Given the description of an element on the screen output the (x, y) to click on. 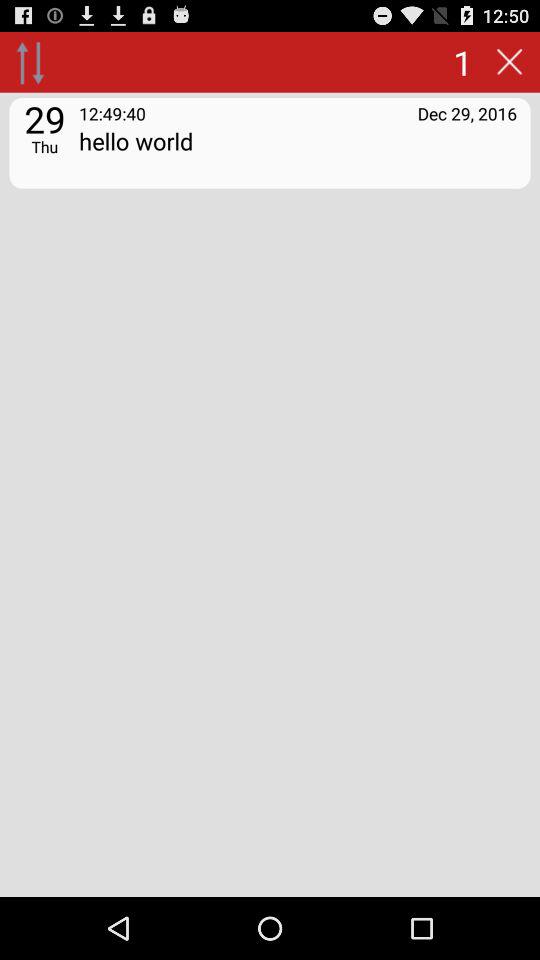
swipe until 12:49:40 app (112, 112)
